Given the description of an element on the screen output the (x, y) to click on. 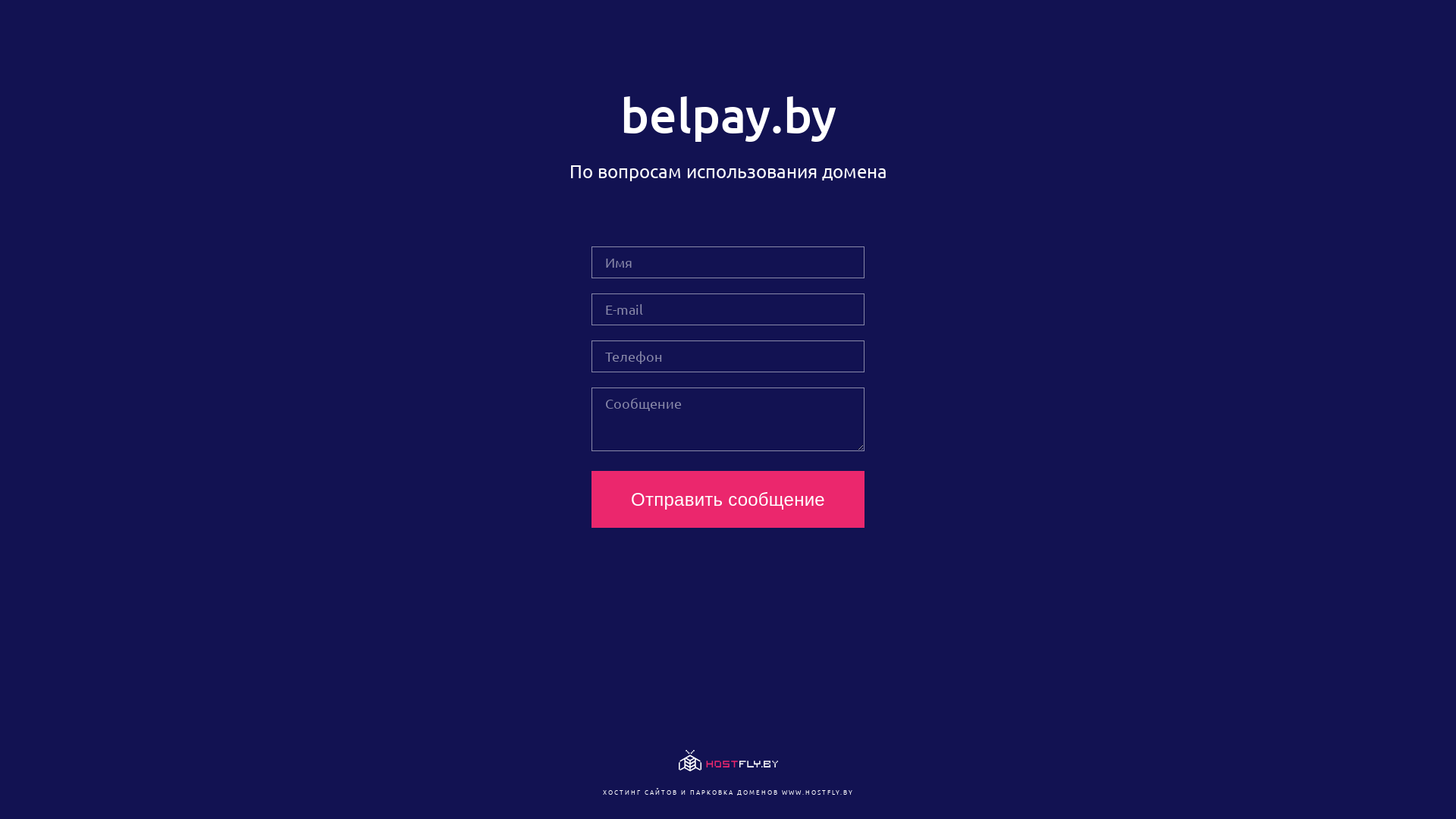
WWW.HOSTFLY.BY Element type: text (817, 791)
